Given the description of an element on the screen output the (x, y) to click on. 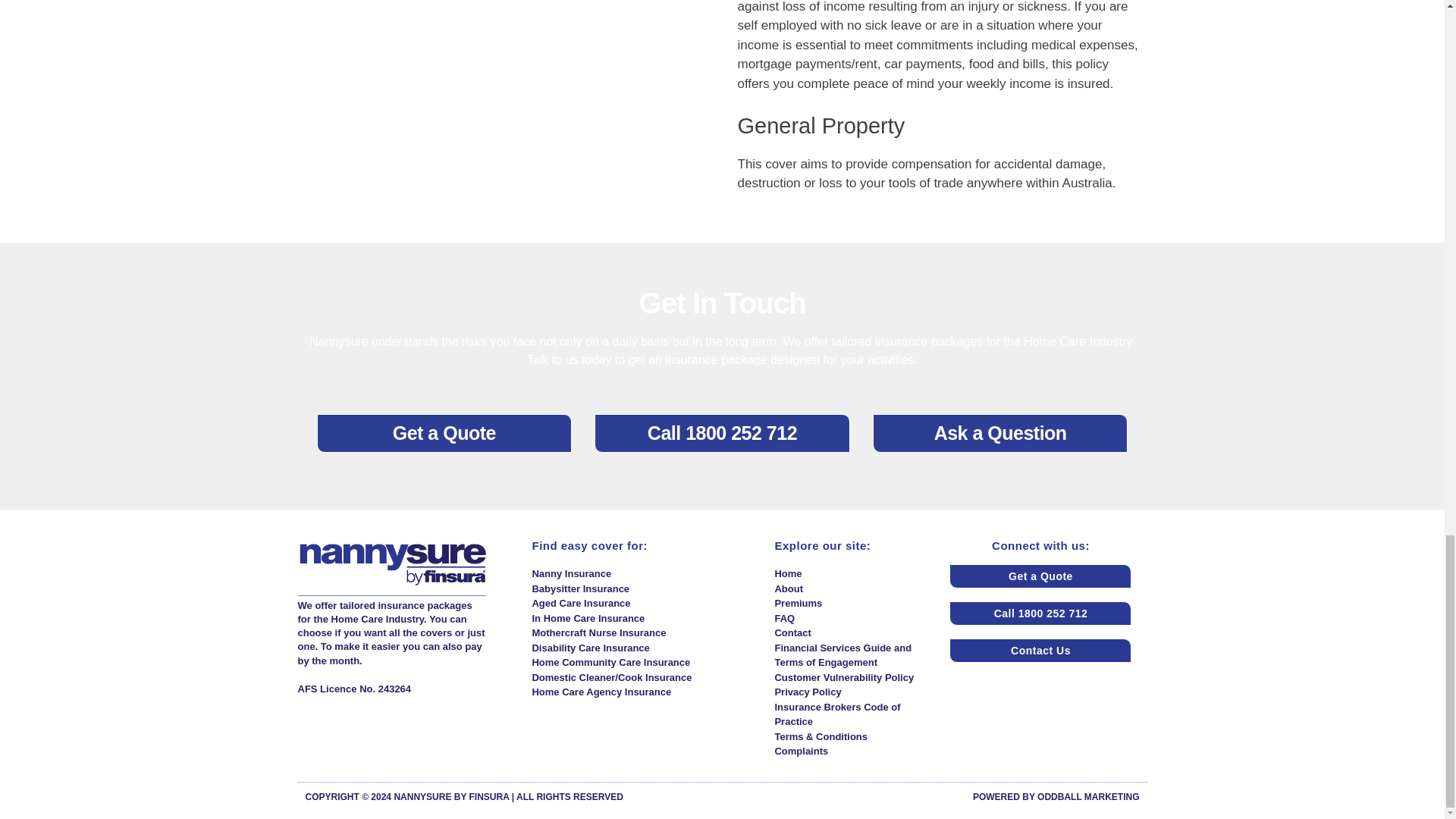
Nanny Insurance (644, 573)
In Home Care Insurance (644, 618)
Call 1800 252 712 (722, 433)
Babysitter Insurance (644, 589)
Ask a Question (1000, 433)
Aged Care Insurance (644, 603)
Get a Quote (444, 433)
